Given the description of an element on the screen output the (x, y) to click on. 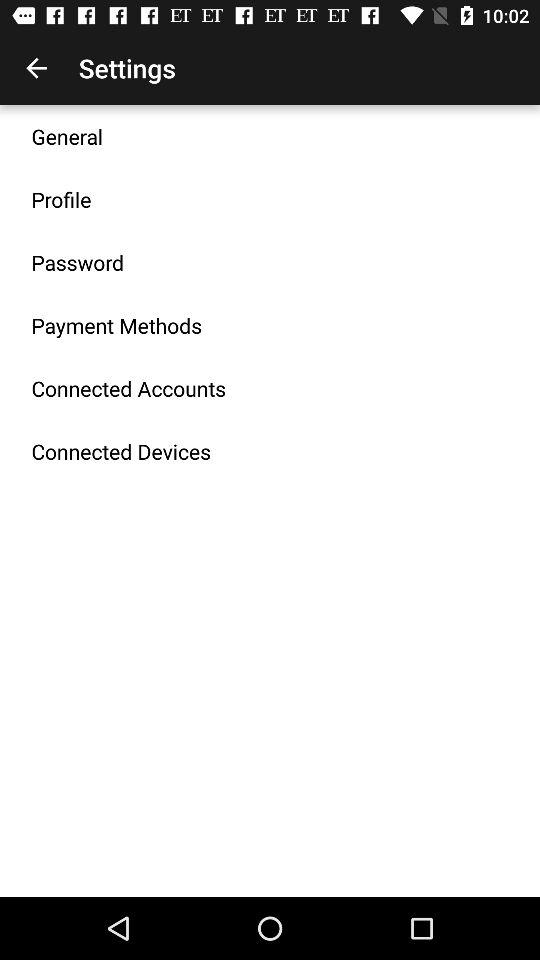
swipe to general icon (67, 136)
